Given the description of an element on the screen output the (x, y) to click on. 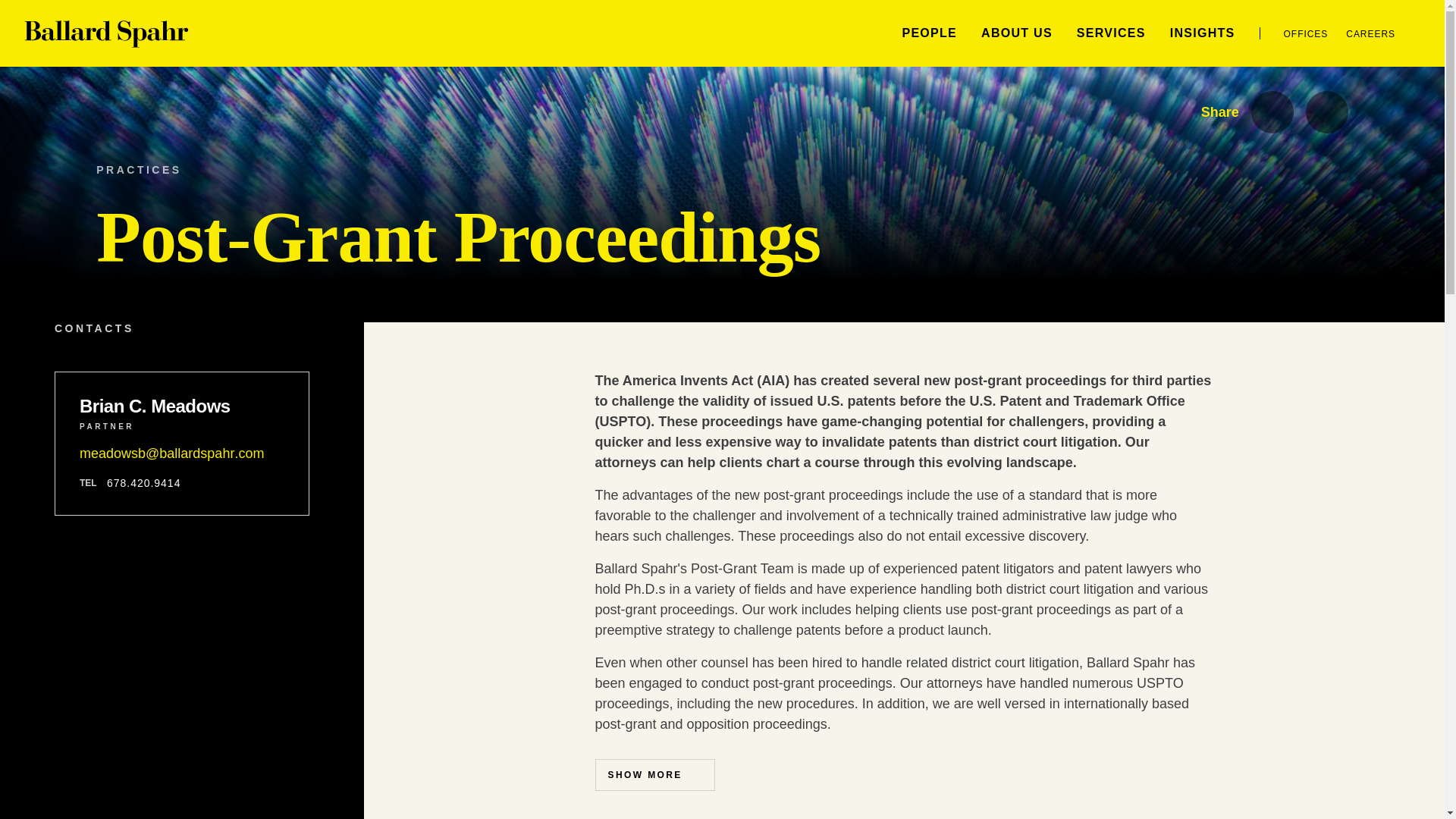
678.420.9414 (143, 482)
PEOPLE (928, 32)
INSIGHTS (1202, 32)
SERVICES (1111, 32)
ABOUT US (1016, 32)
OFFICES (1305, 33)
SHOW MORE (654, 775)
CAREERS (1369, 33)
Brian C. Meadows (181, 406)
